Given the description of an element on the screen output the (x, y) to click on. 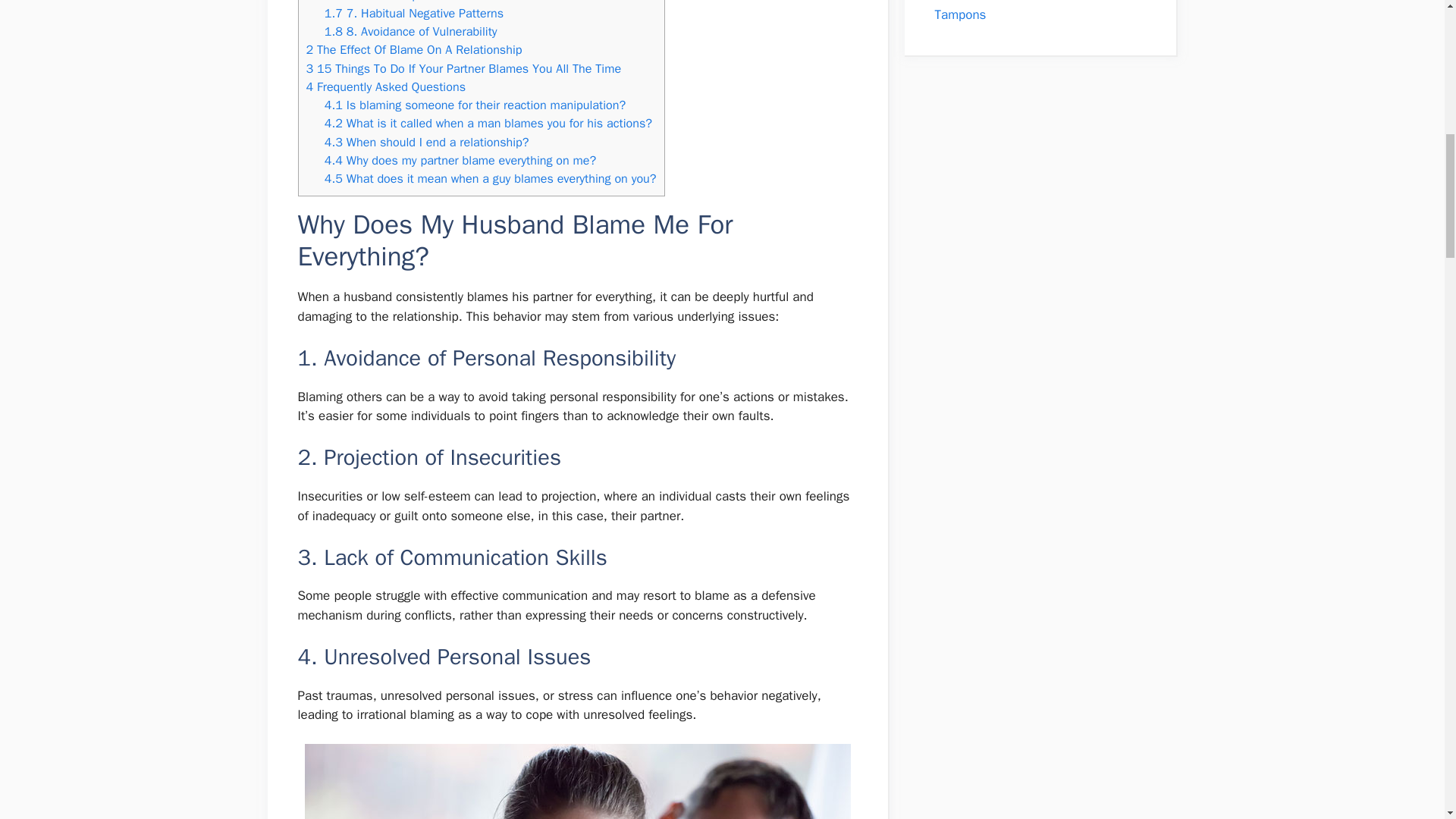
4.2 What is it called when a man blames you for his actions? (488, 123)
3 15 Things To Do If Your Partner Blames You All The Time (463, 68)
4 Frequently Asked Questions (385, 86)
4.3 When should I end a relationship? (426, 141)
4.1 Is blaming someone for their reaction manipulation? (475, 105)
1.6 6. Unmet Expectations (395, 1)
1.7 7. Habitual Negative Patterns (413, 12)
4.5 What does it mean when a guy blames everything on you? (490, 178)
1.8 8. Avoidance of Vulnerability (410, 31)
4.4 Why does my partner blame everything on me? (460, 160)
